Given the description of an element on the screen output the (x, y) to click on. 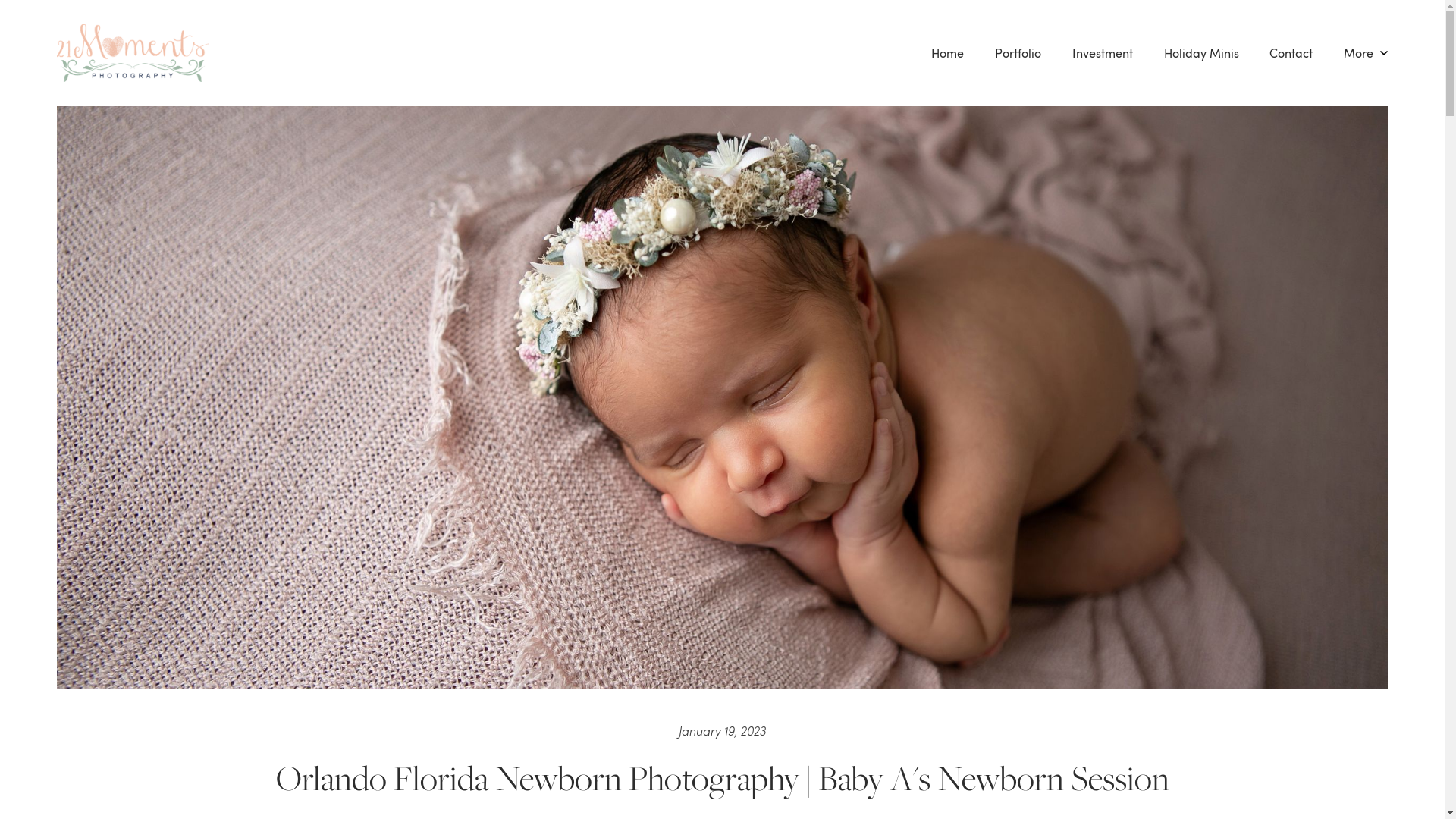
Contact Element type: text (1291, 52)
Portfolio Element type: text (1018, 52)
Home Element type: text (947, 52)
Investment Element type: text (1102, 52)
Holiday Minis Element type: text (1200, 52)
More Element type: text (1365, 52)
